Given the description of an element on the screen output the (x, y) to click on. 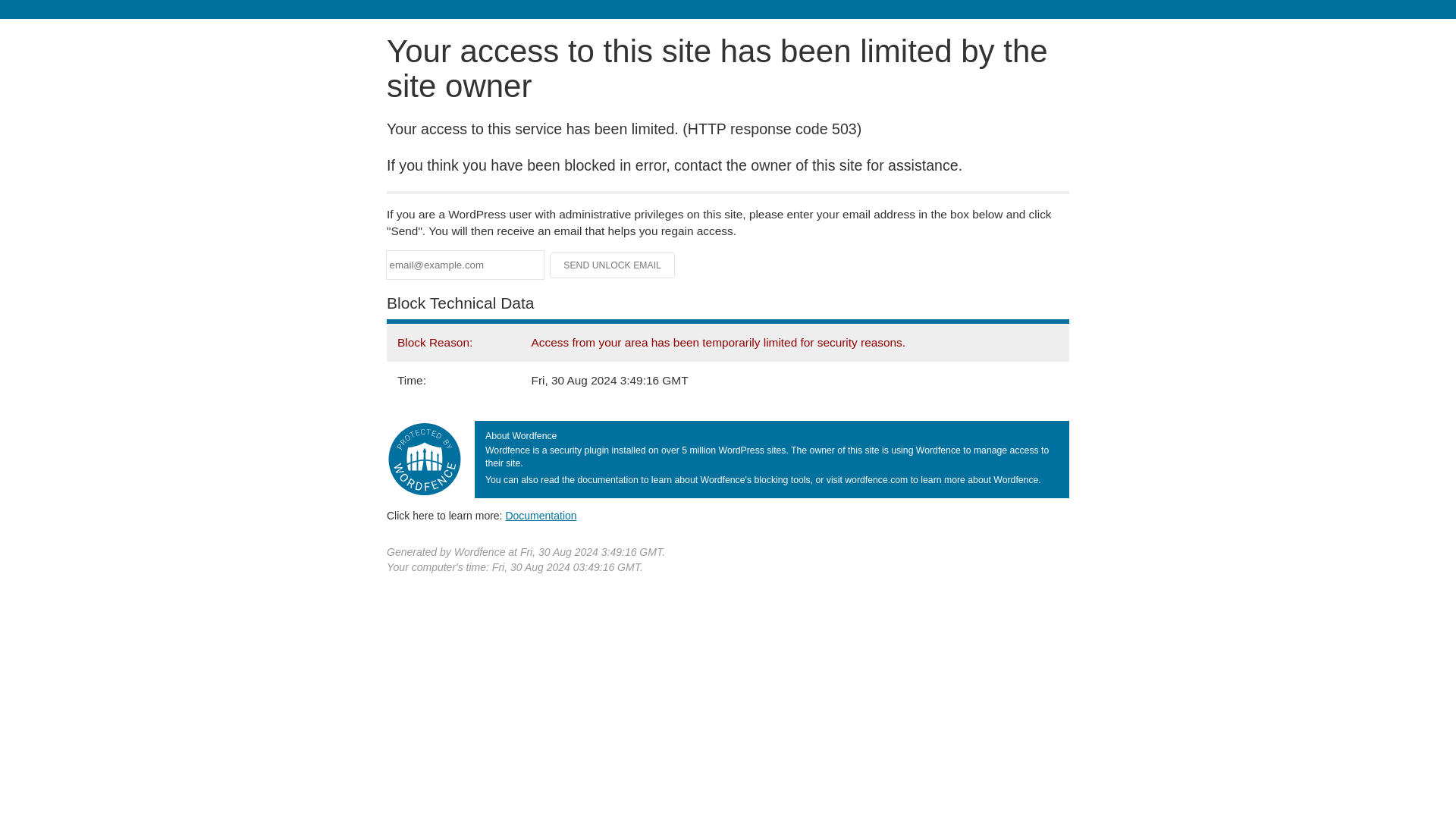
Send Unlock Email (612, 265)
Documentation (540, 515)
Send Unlock Email (612, 265)
